Given the description of an element on the screen output the (x, y) to click on. 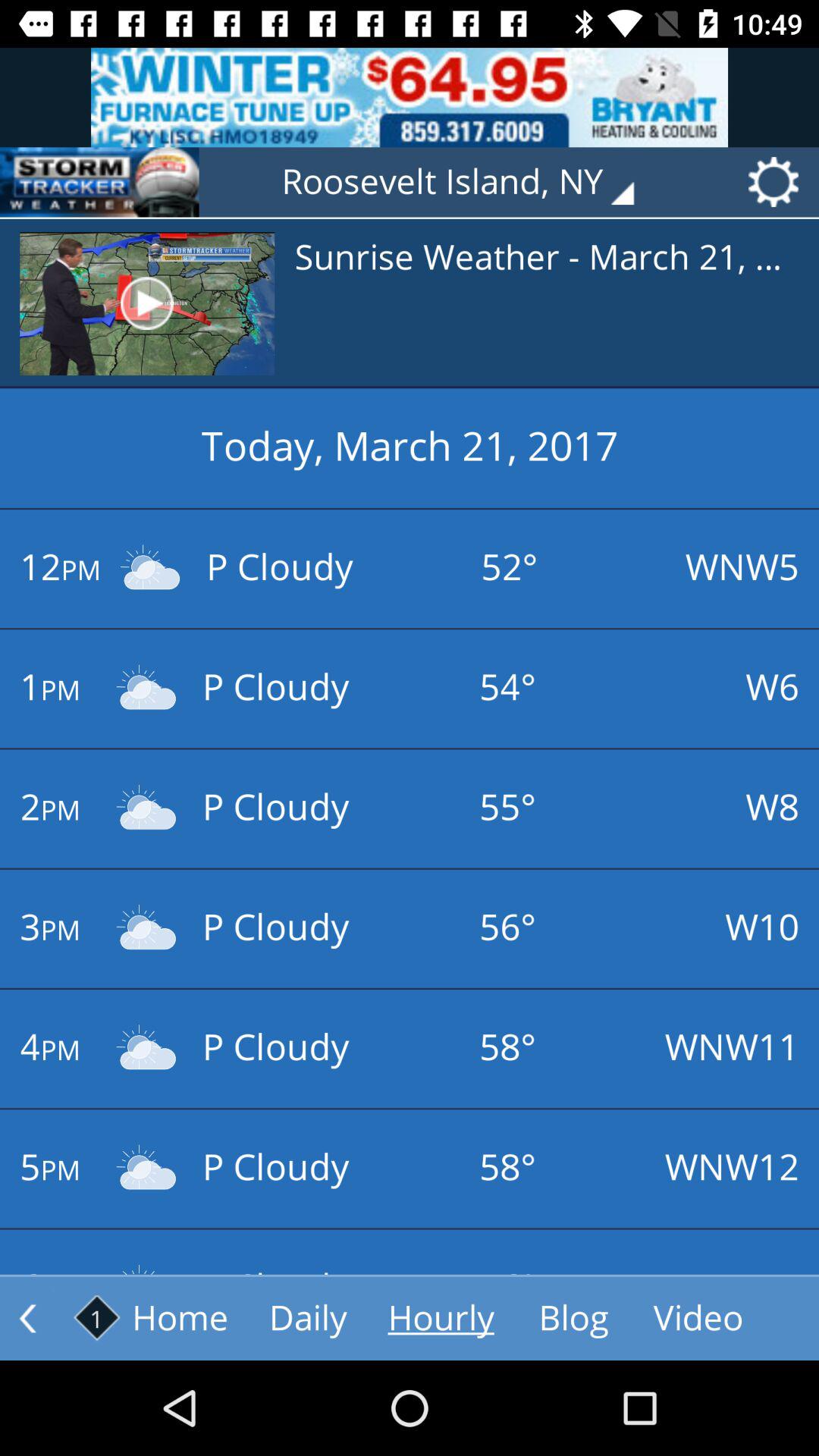
scroll menu left (27, 1318)
